Given the description of an element on the screen output the (x, y) to click on. 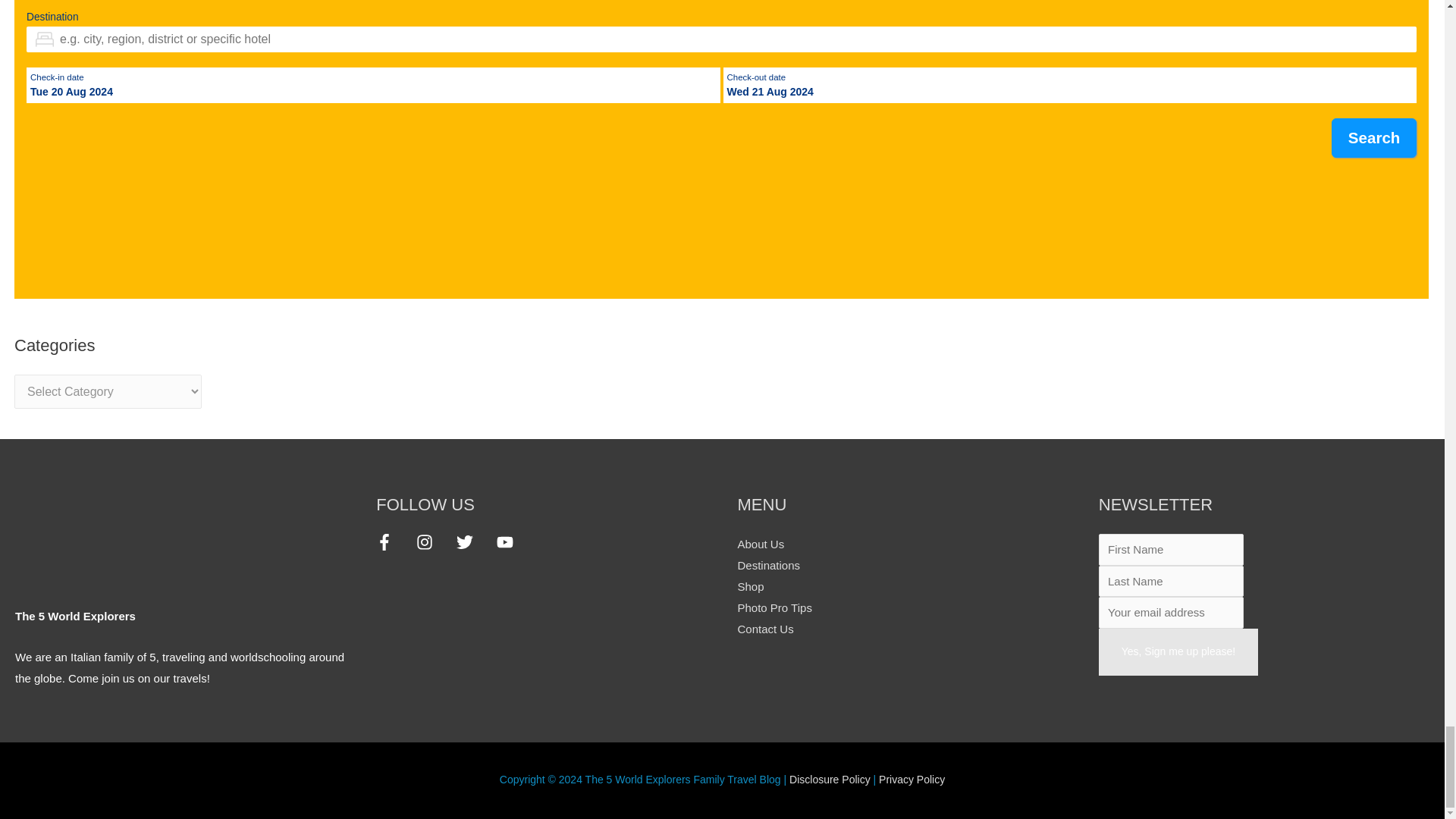
Yes, Sign me up please! (1178, 651)
Search (1374, 137)
e.g. city, region, district or specific hotel (721, 39)
